Given the description of an element on the screen output the (x, y) to click on. 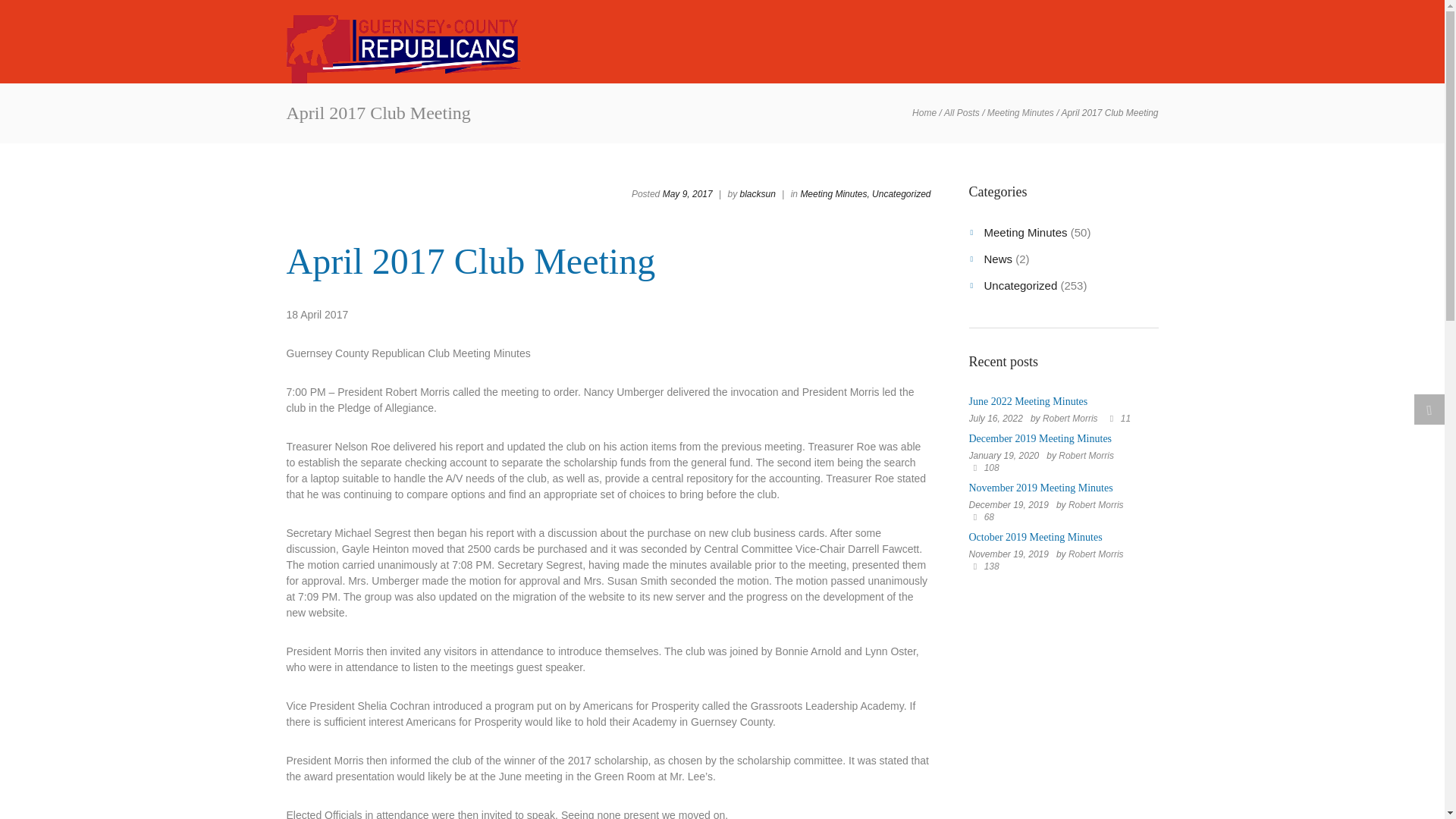
Meeting Minutes (1020, 113)
Home (924, 113)
All Posts (961, 113)
Meeting Minutes, (834, 194)
May 9, 2017 (687, 194)
Uncategorized (901, 194)
blacksun (757, 194)
